Given the description of an element on the screen output the (x, y) to click on. 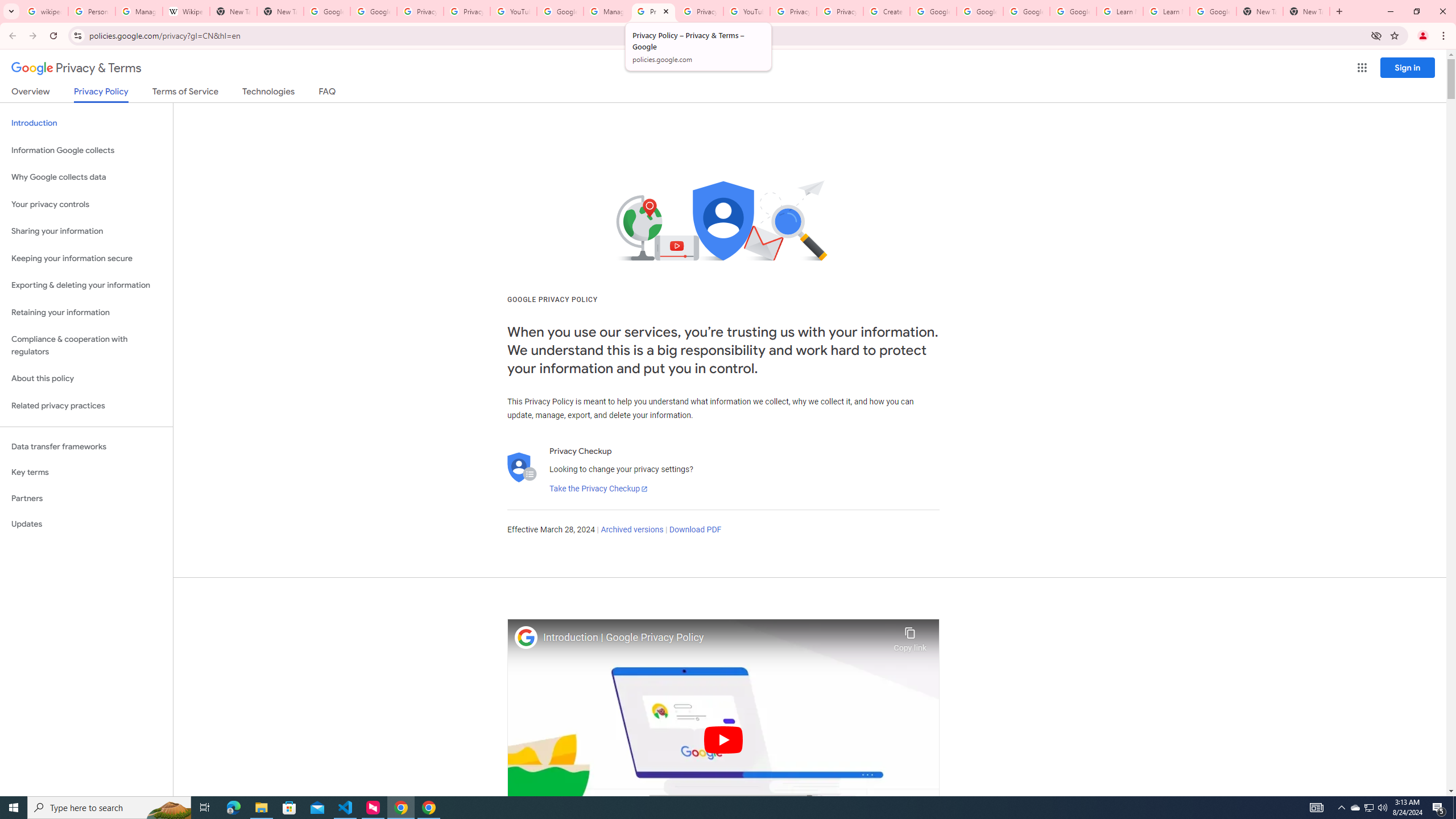
Google Account Help (980, 11)
Take the Privacy Checkup (597, 488)
New Tab (279, 11)
Google Drive: Sign-in (373, 11)
